Given the description of an element on the screen output the (x, y) to click on. 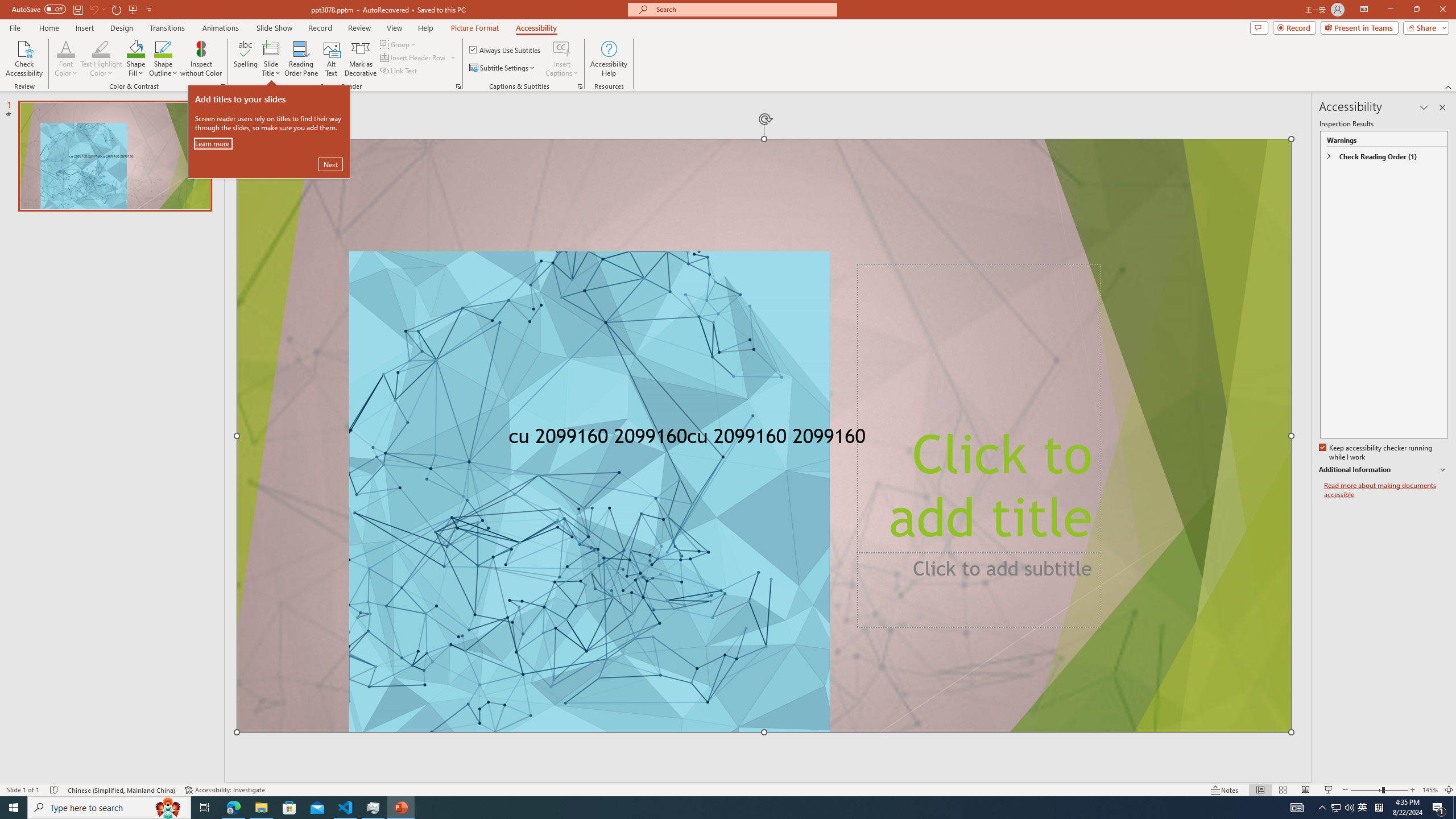
Learn more (213, 143)
Shape Outline Green, Accent 1 (163, 48)
Subtitle Settings (502, 67)
